Given the description of an element on the screen output the (x, y) to click on. 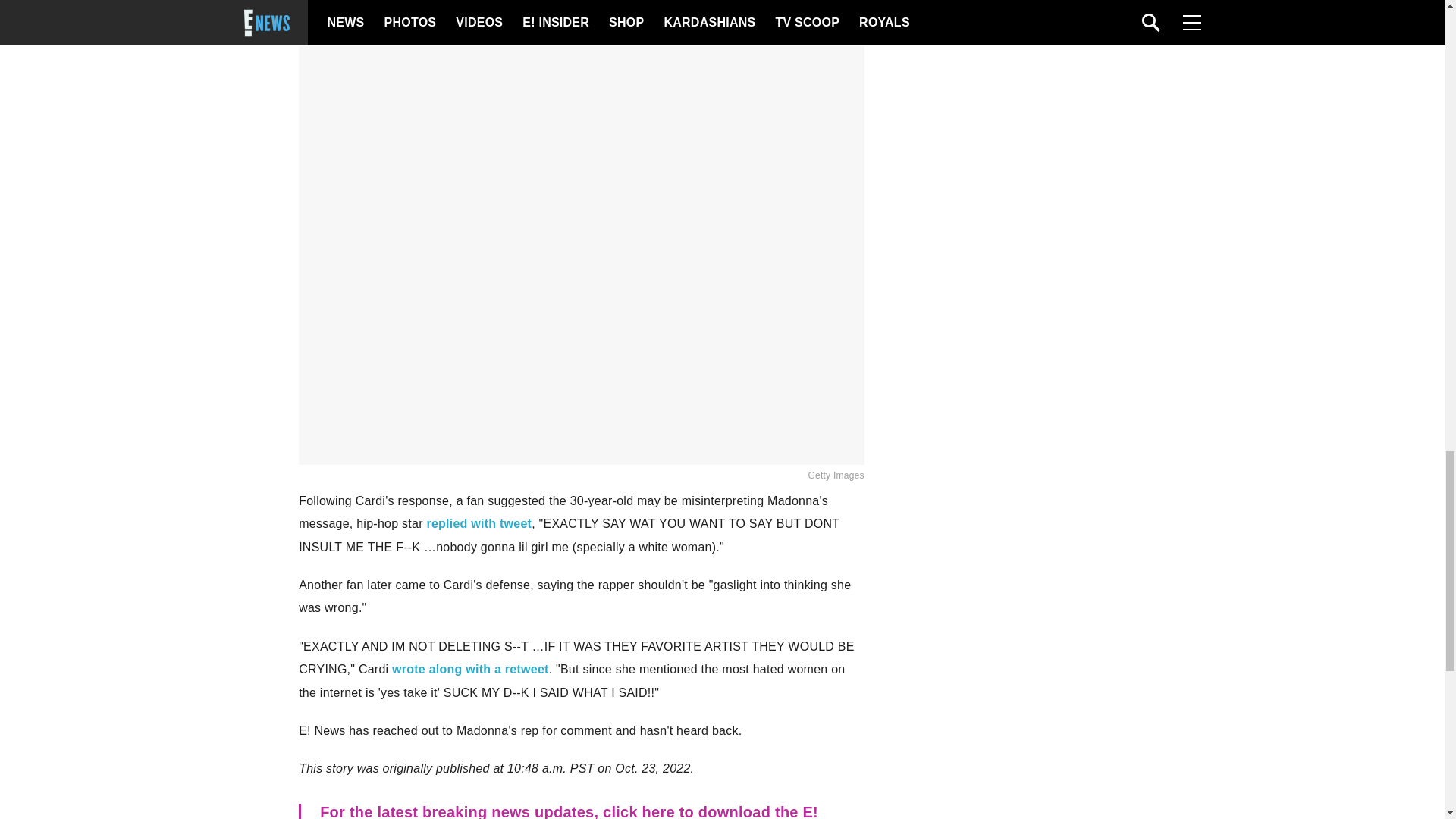
wrote along with a retweet (469, 668)
replied with tweet (478, 522)
